Given the description of an element on the screen output the (x, y) to click on. 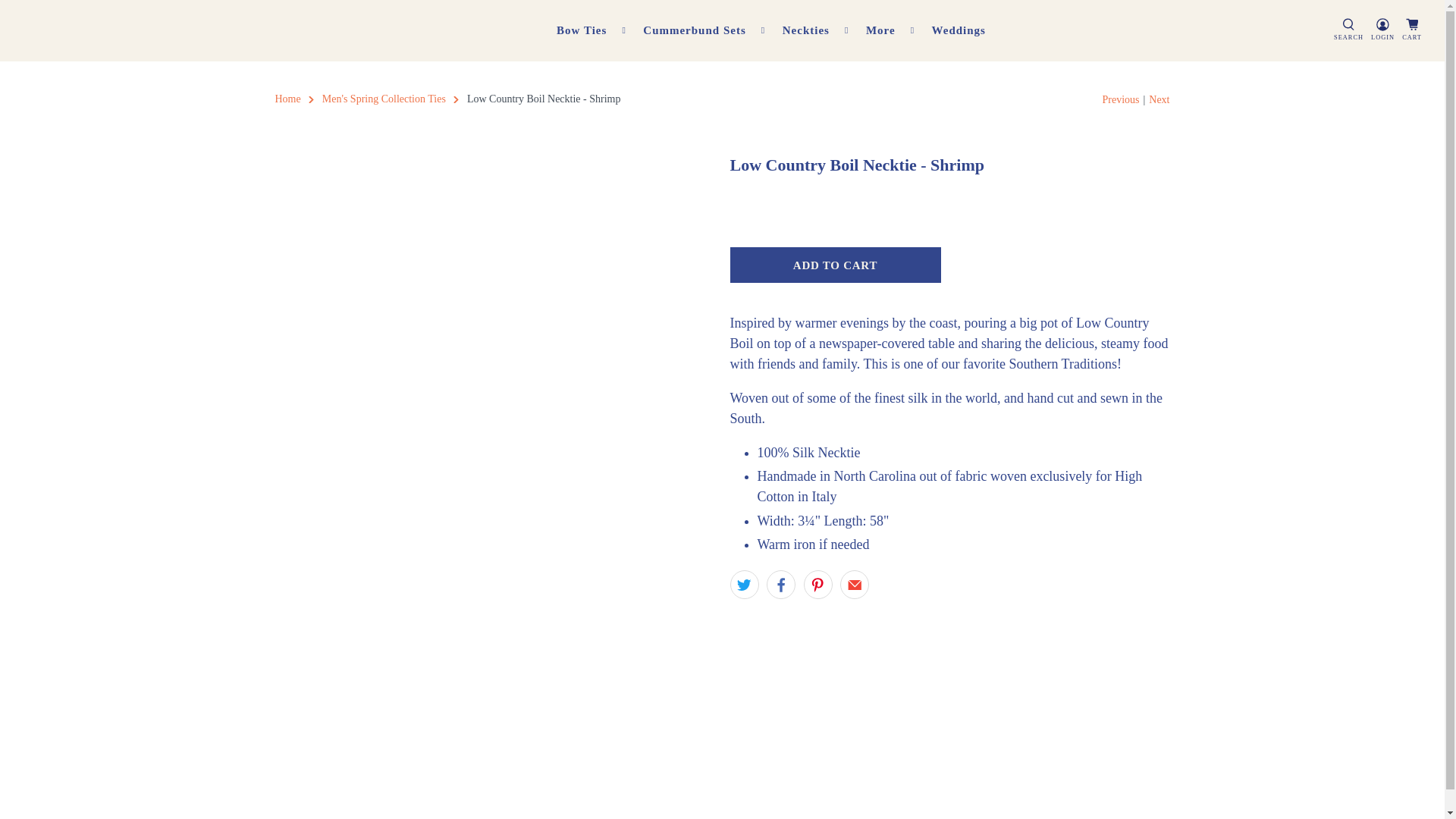
Share this on Pinterest (817, 584)
Email this to a friend (854, 584)
High Cotton (287, 98)
Neckties (815, 30)
High Cotton (117, 30)
Share this on Twitter (743, 584)
Next (1158, 99)
Men's Spring Collection Ties (383, 98)
Share this on Facebook (780, 584)
Cummerbund Sets (704, 30)
